Given the description of an element on the screen output the (x, y) to click on. 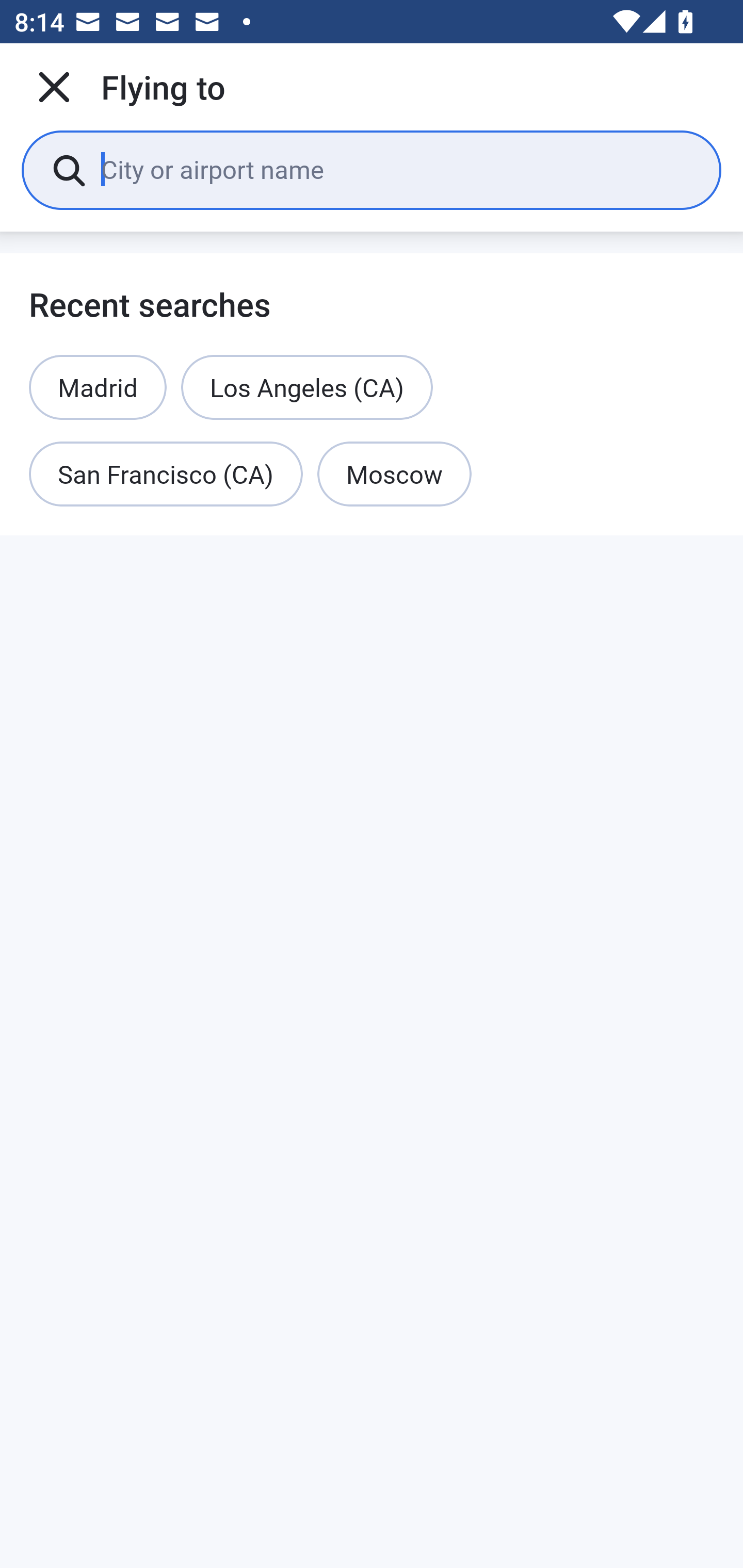
City or airport name (396, 169)
Madrid (97, 387)
Los Angeles (CA) (307, 387)
San Francisco (CA) (165, 474)
Moscow (394, 474)
